Given the description of an element on the screen output the (x, y) to click on. 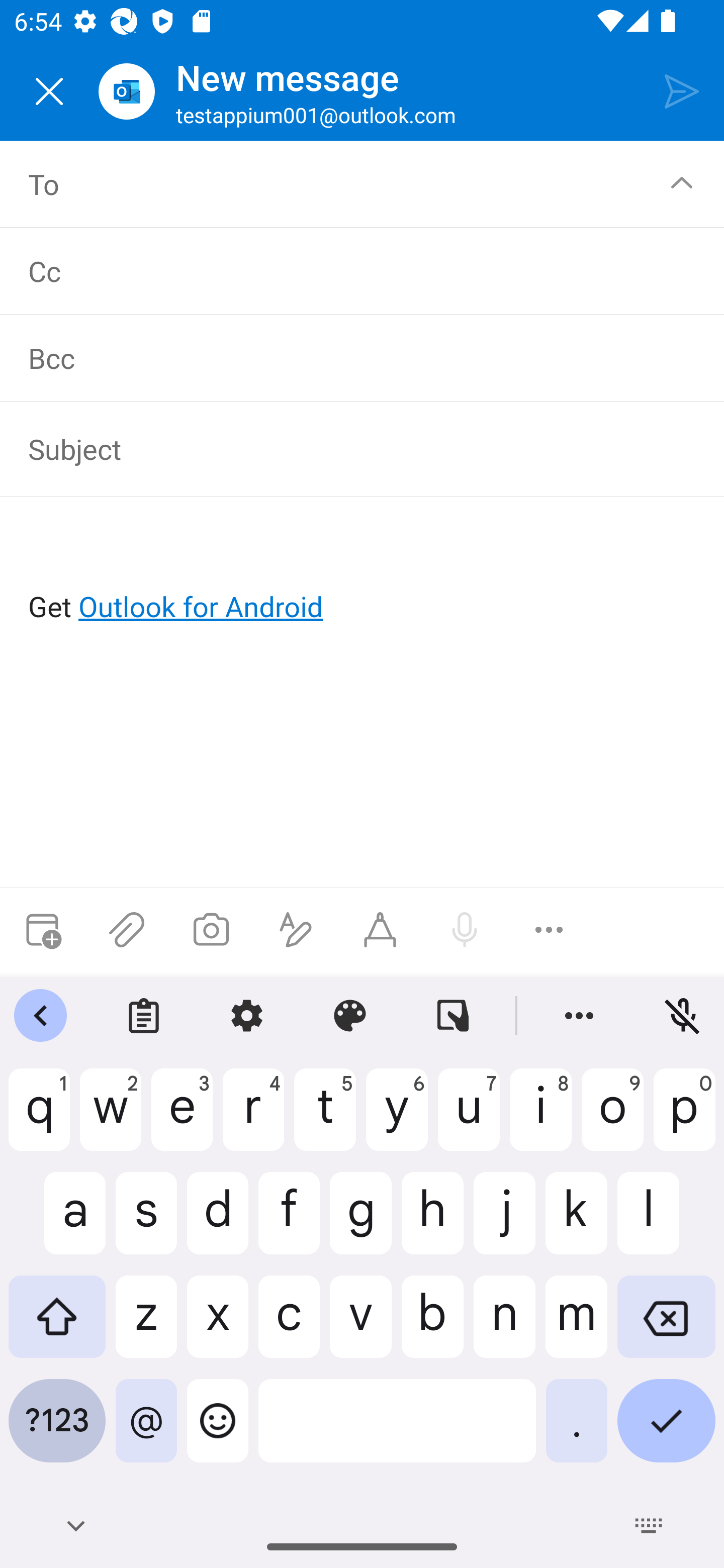
Close (49, 91)
Send (681, 90)
Subject (347, 448)


Get Outlook for Android (363, 573)
Attach meeting (42, 929)
Attach files (126, 929)
Take a photo (210, 929)
Show formatting options (295, 929)
Start Ink compose (380, 929)
More options (548, 929)
